Given the description of an element on the screen output the (x, y) to click on. 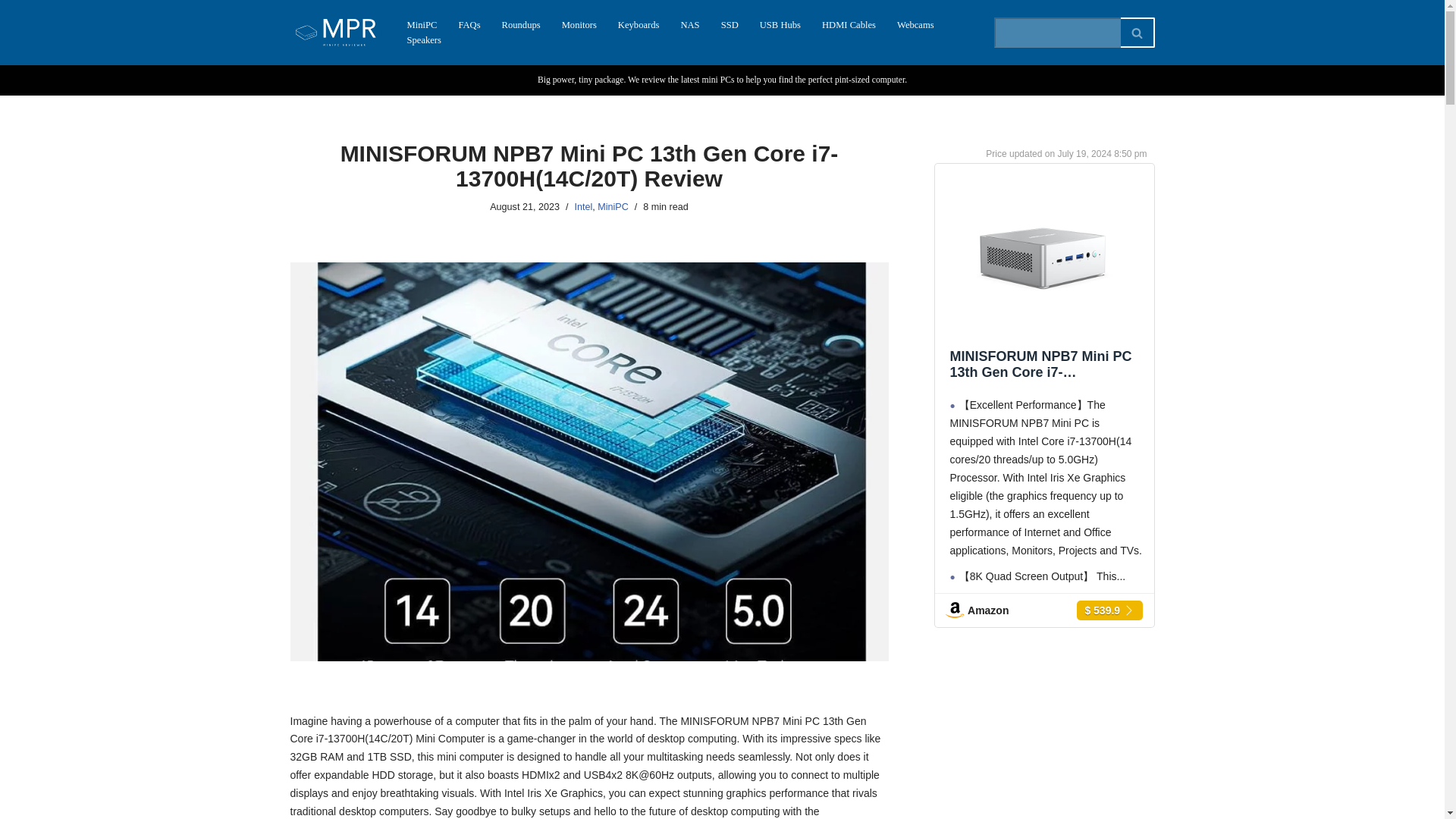
MiniPC (421, 24)
Speakers (423, 39)
MiniPC (612, 206)
Monitors (579, 24)
HDMI Cables (849, 24)
Skip to content (11, 31)
USB Hubs (780, 24)
Intel (582, 206)
SSD (729, 24)
NAS (688, 24)
Roundups (521, 24)
Keyboards (638, 24)
Webcams (915, 24)
FAQs (469, 24)
